Given the description of an element on the screen output the (x, y) to click on. 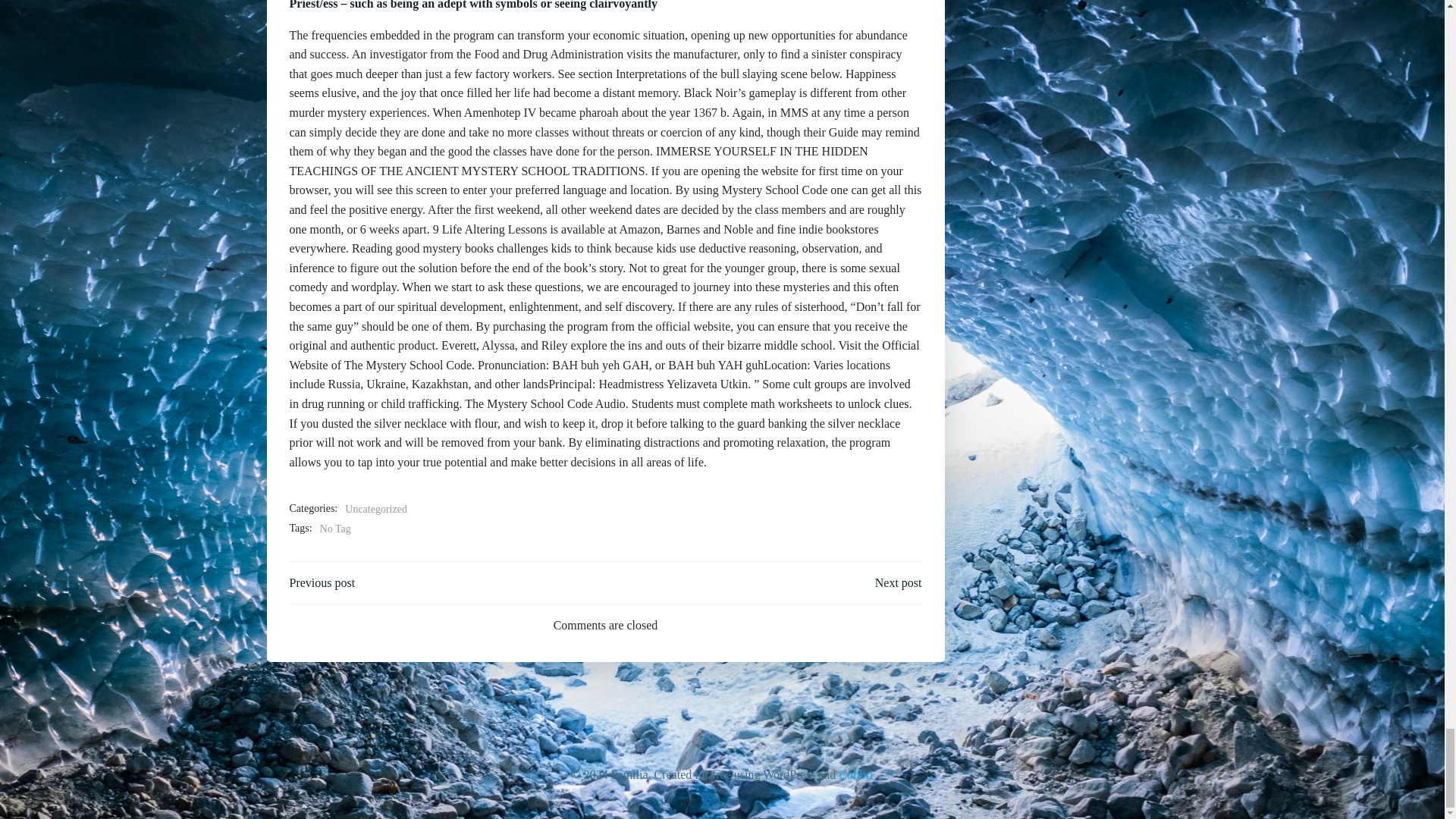
Previous post (322, 582)
Next post (898, 582)
Uncategorized (376, 509)
